Given the description of an element on the screen output the (x, y) to click on. 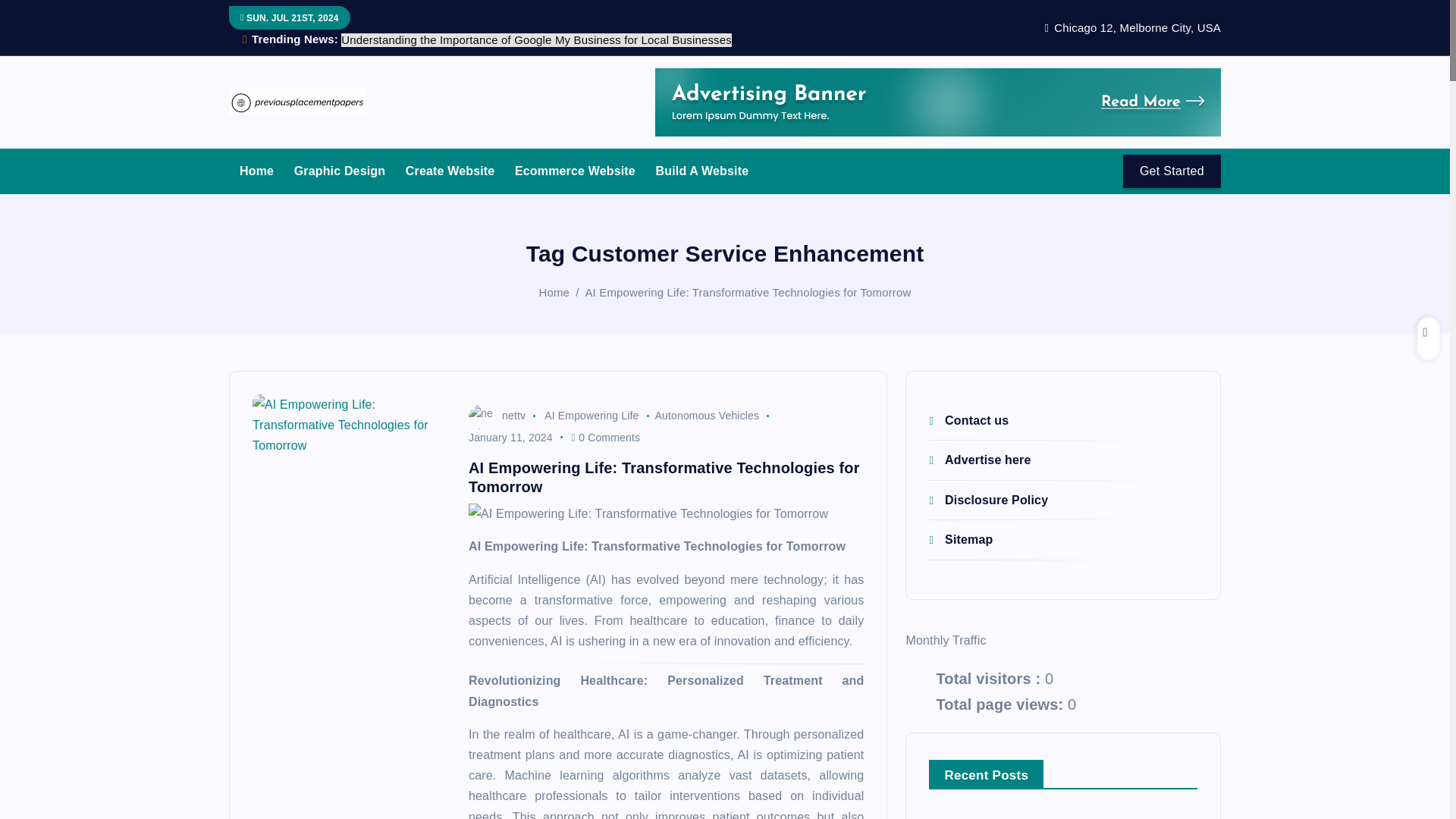
AI Empowering Life: Transformative Technologies for Tomorrow (351, 469)
Get Started (1171, 171)
AI Empowering Life: Transformative Technologies for Tomorrow (665, 513)
Home (256, 170)
Autonomous Vehicles (707, 415)
Ecommerce Website (575, 170)
Ecommerce Website (575, 170)
AI Empowering Life (591, 415)
Home (256, 170)
Sitemap (960, 539)
Home (553, 291)
Graphic Design (339, 170)
Create Website (449, 170)
AI Empowering Life: Transformative Technologies for Tomorrow (748, 291)
nettv (496, 415)
